Given the description of an element on the screen output the (x, y) to click on. 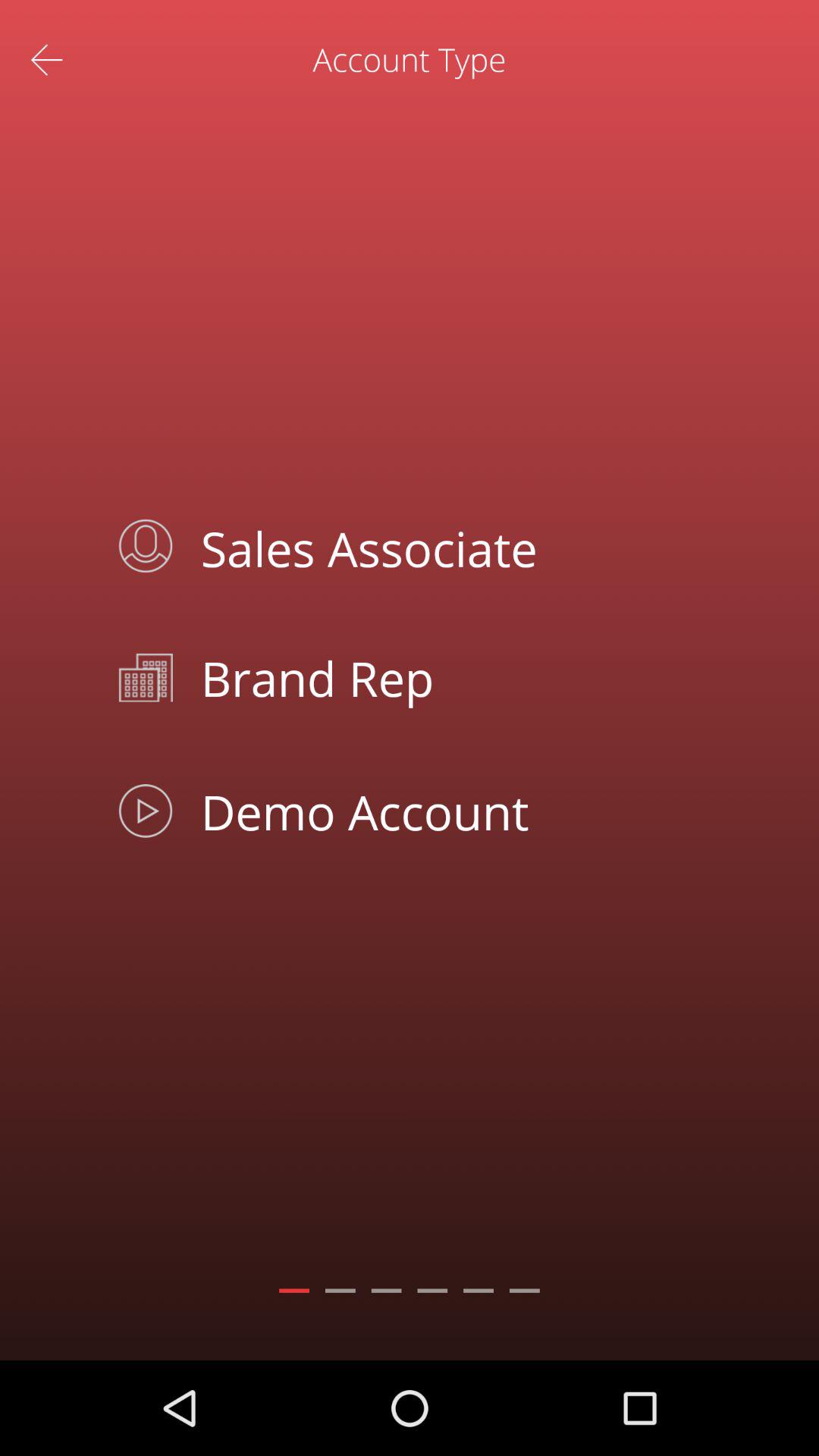
turn off item below the sales associate icon (444, 677)
